Given the description of an element on the screen output the (x, y) to click on. 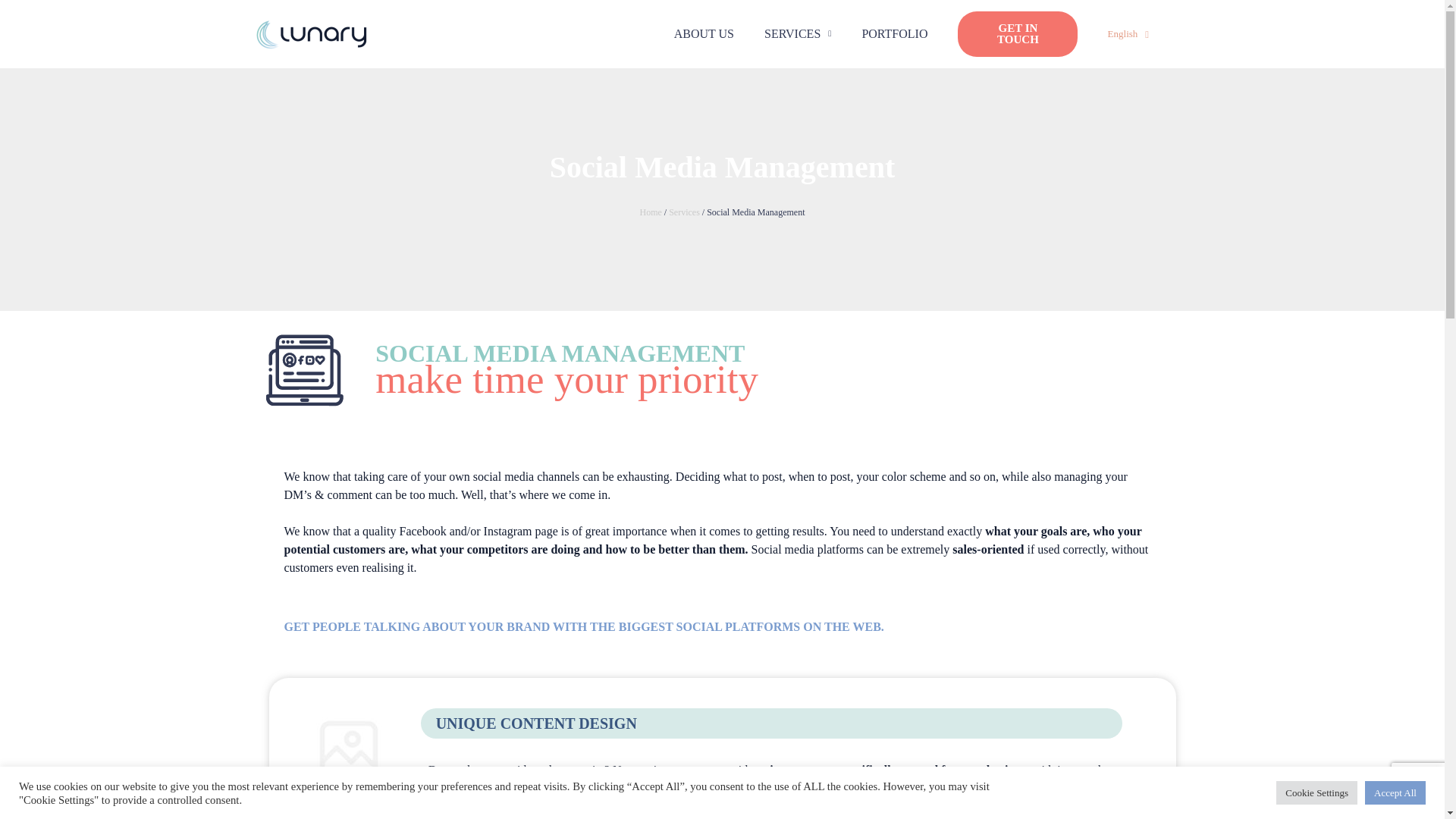
ABOUT US (704, 3)
HORIZONTAL-LOGO-400X100.png (310, 34)
PORTFOLIO (893, 23)
English (1128, 33)
SERVICES (797, 5)
GET IN TOUCH (1017, 33)
